Given the description of an element on the screen output the (x, y) to click on. 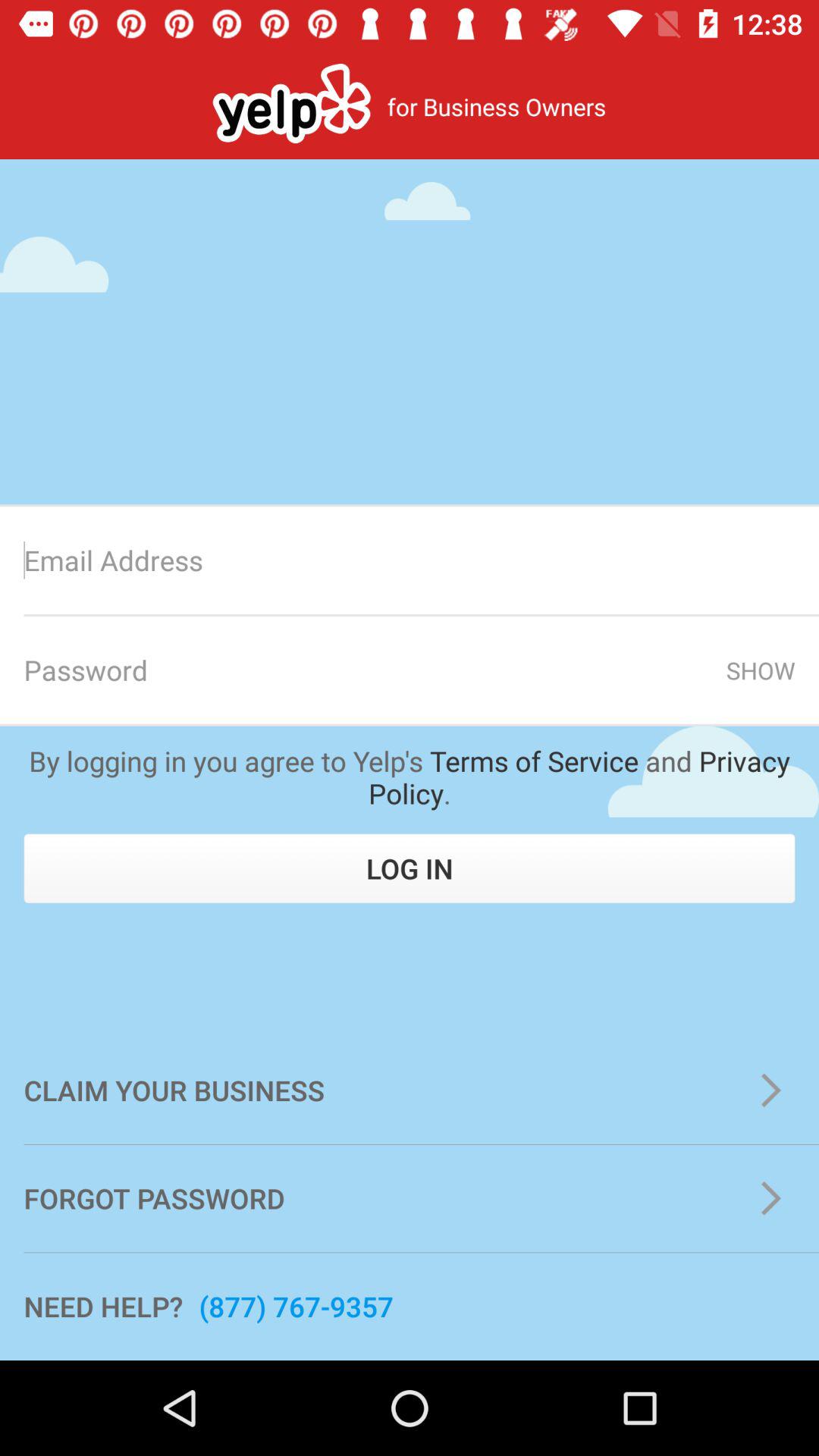
tap the icon below the claim your business item (409, 1198)
